Given the description of an element on the screen output the (x, y) to click on. 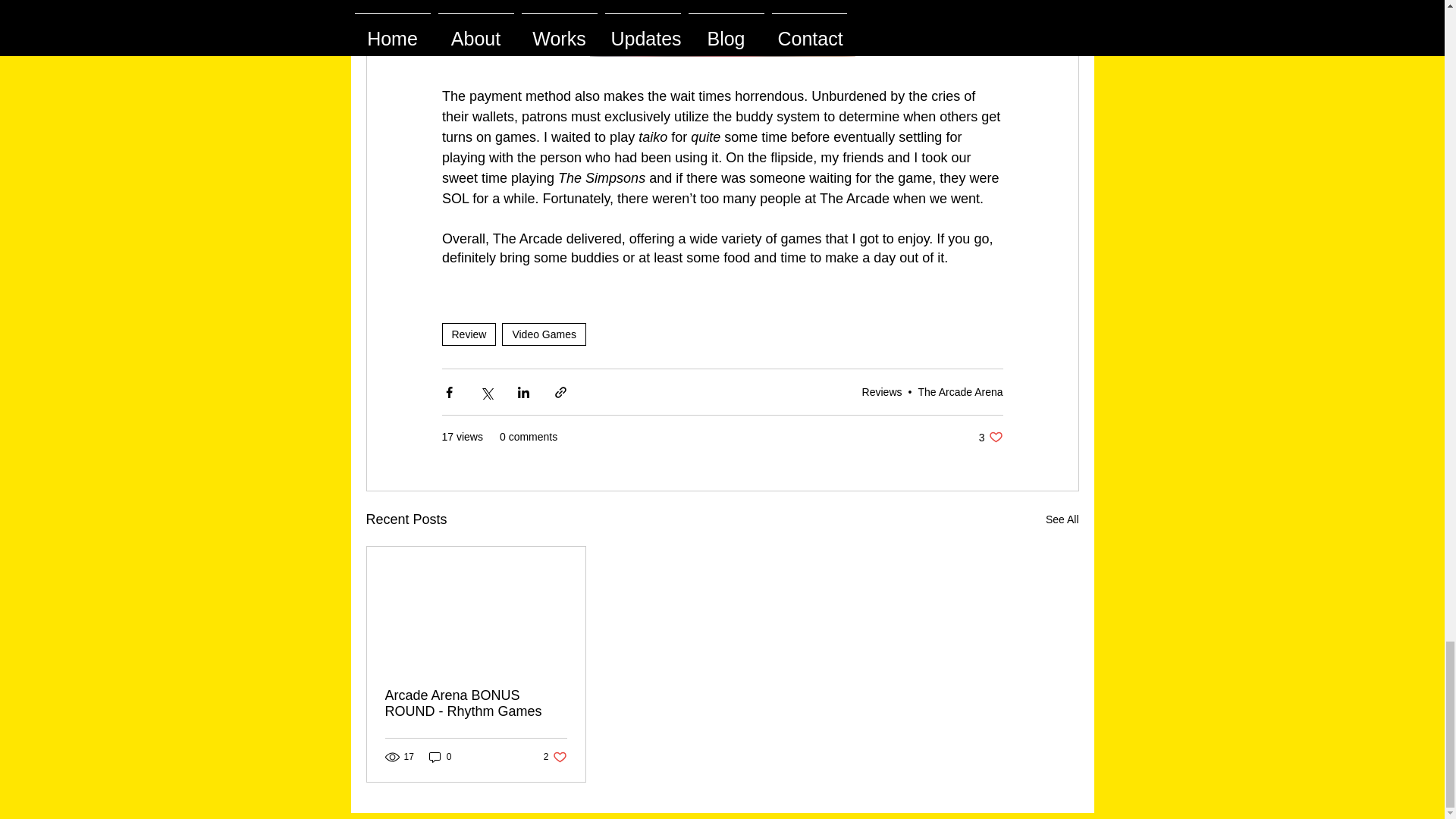
Arcade Arena BONUS ROUND - Rhythm Games (476, 703)
Video Games (544, 333)
See All (990, 436)
Review (1061, 519)
0 (555, 757)
The Arcade Arena (468, 333)
Reviews (440, 757)
